Given the description of an element on the screen output the (x, y) to click on. 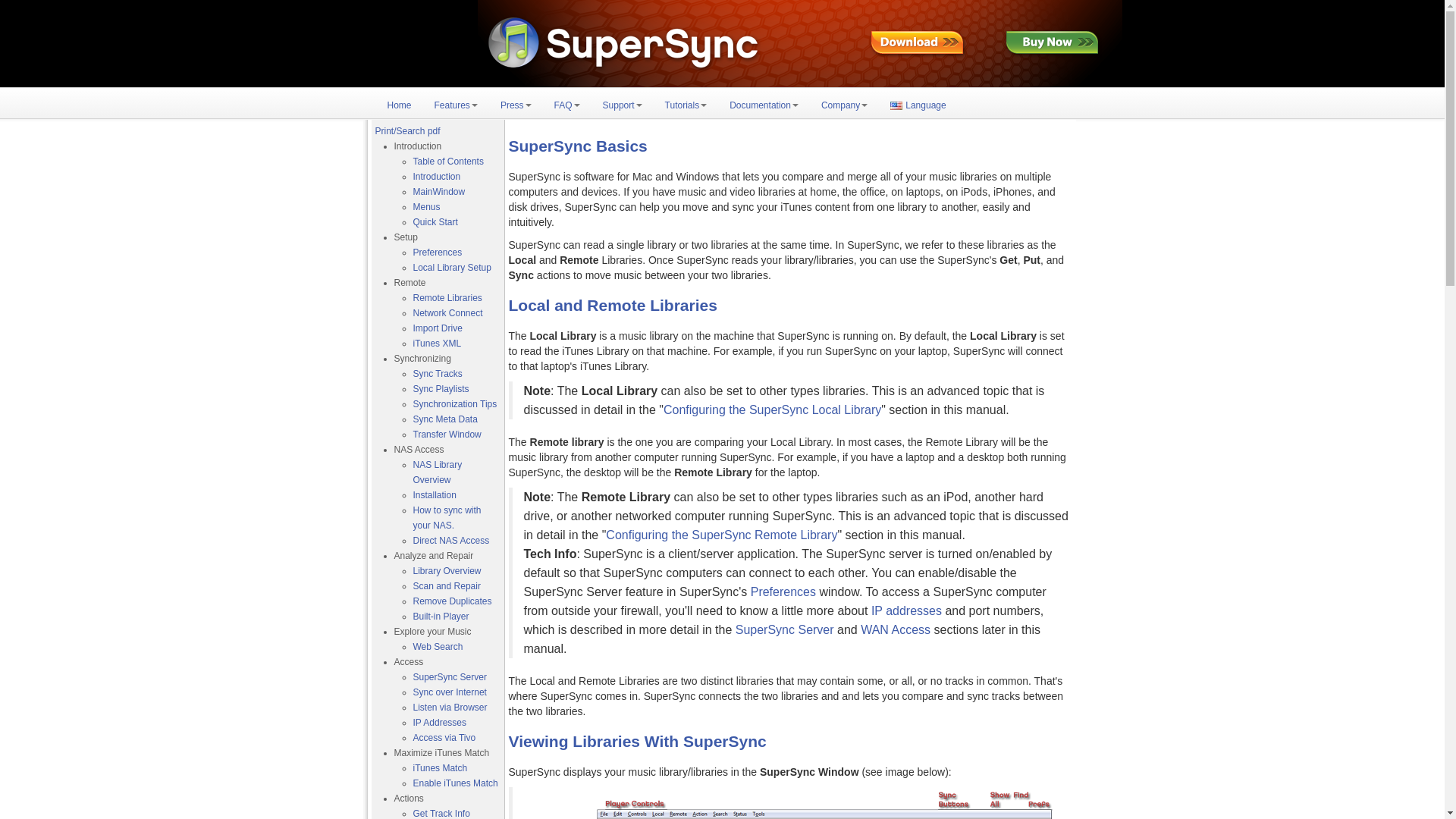
Home (399, 105)
Press (516, 105)
Tutorials (686, 105)
Features (456, 105)
FAQ (567, 105)
Support (622, 105)
